Given the description of an element on the screen output the (x, y) to click on. 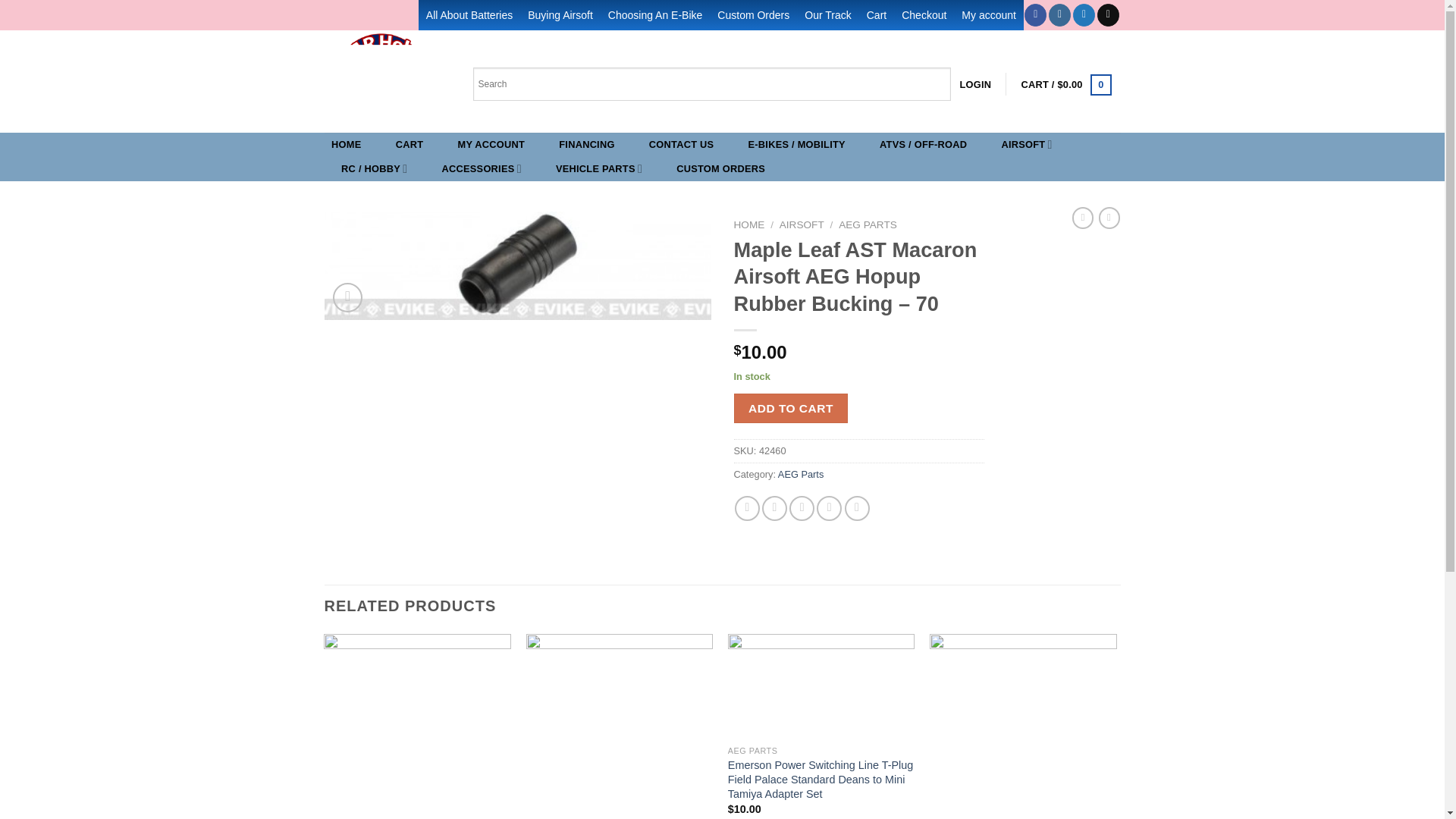
Cart (876, 15)
Cart (1066, 84)
Buying Airsoft (559, 15)
Our Track (827, 15)
Email to a Friend (801, 508)
CART (409, 144)
AIRSOFT (1026, 144)
Custom Orders (753, 15)
Send us an email (1108, 15)
MY ACCOUNT (490, 144)
